Given the description of an element on the screen output the (x, y) to click on. 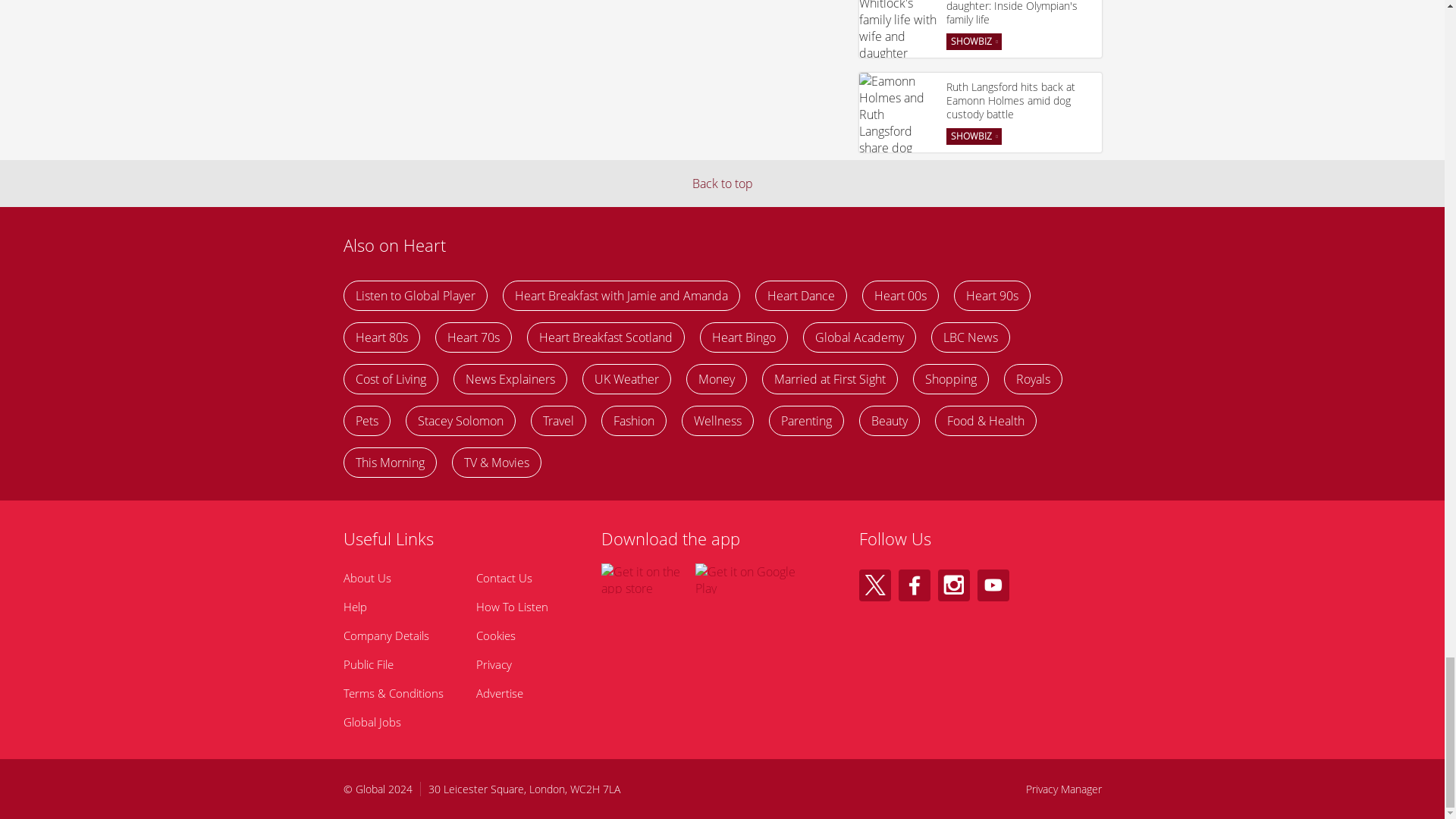
Follow Heart on Instagram (953, 585)
Follow Heart on Youtube (992, 585)
Follow Heart on Facebook (914, 585)
Follow Heart on X (874, 585)
Back to top (721, 183)
